Given the description of an element on the screen output the (x, y) to click on. 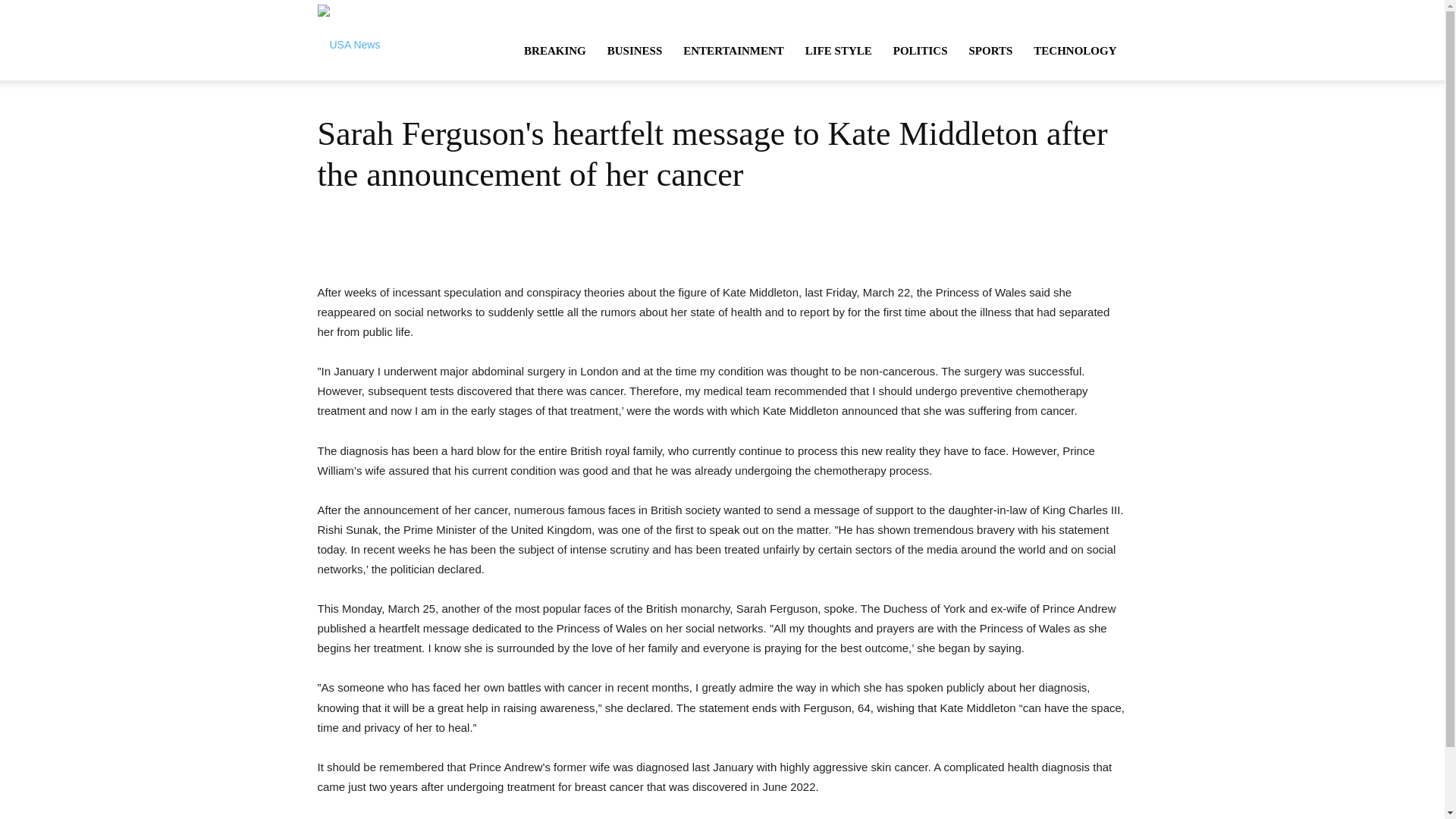
LIFE STYLE (838, 50)
POLITICS (920, 50)
TECHNOLOGY (1074, 50)
BUSINESS (634, 50)
ENTERTAINMENT (733, 50)
Headlines from America (348, 39)
SPORTS (990, 50)
BREAKING (554, 50)
